Given the description of an element on the screen output the (x, y) to click on. 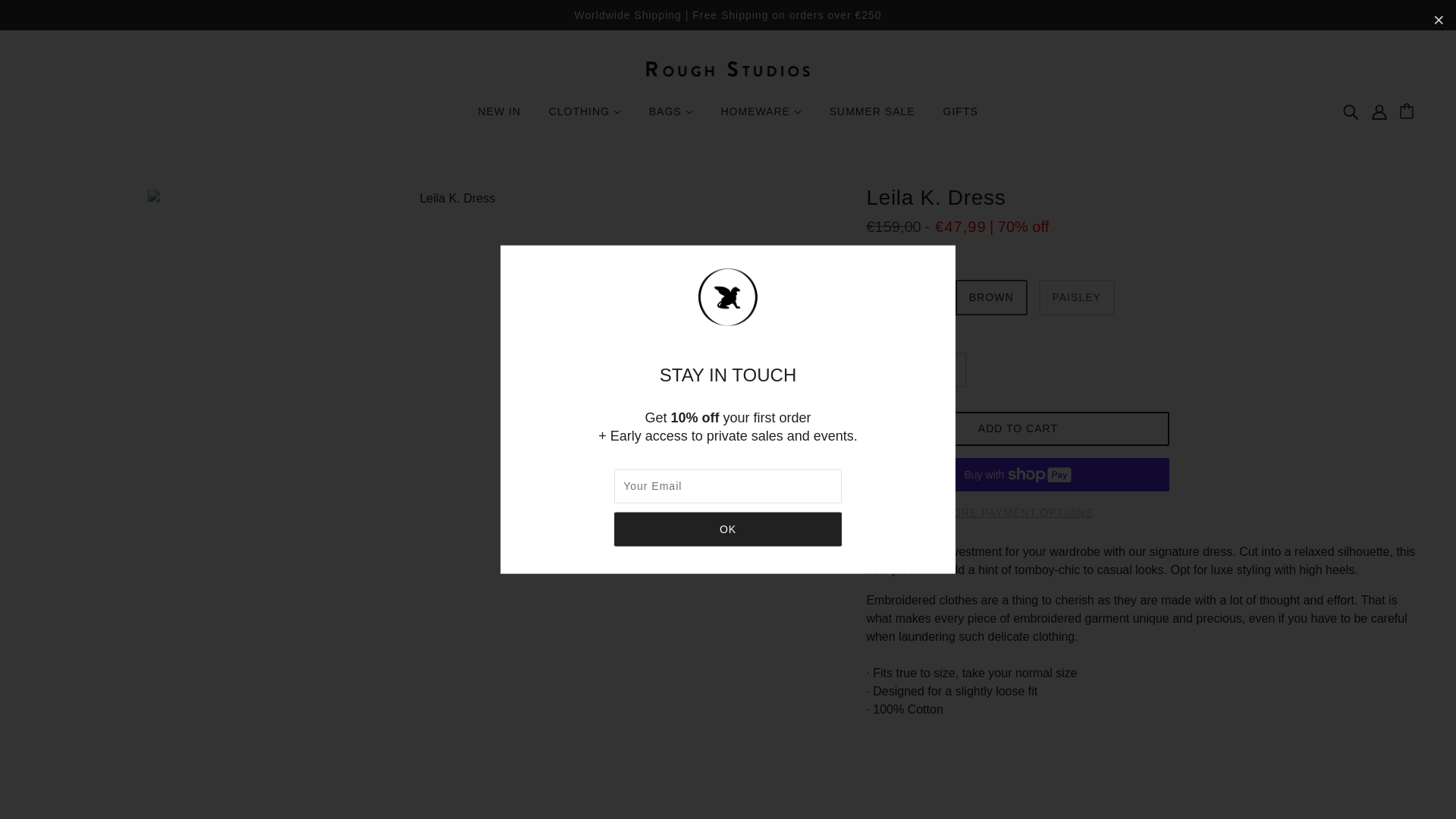
Leila K. Dress (1077, 297)
Leila K. Dress (991, 297)
Rough Studios (727, 67)
Ok (727, 528)
Leila K. Dress (903, 297)
